Given the description of an element on the screen output the (x, y) to click on. 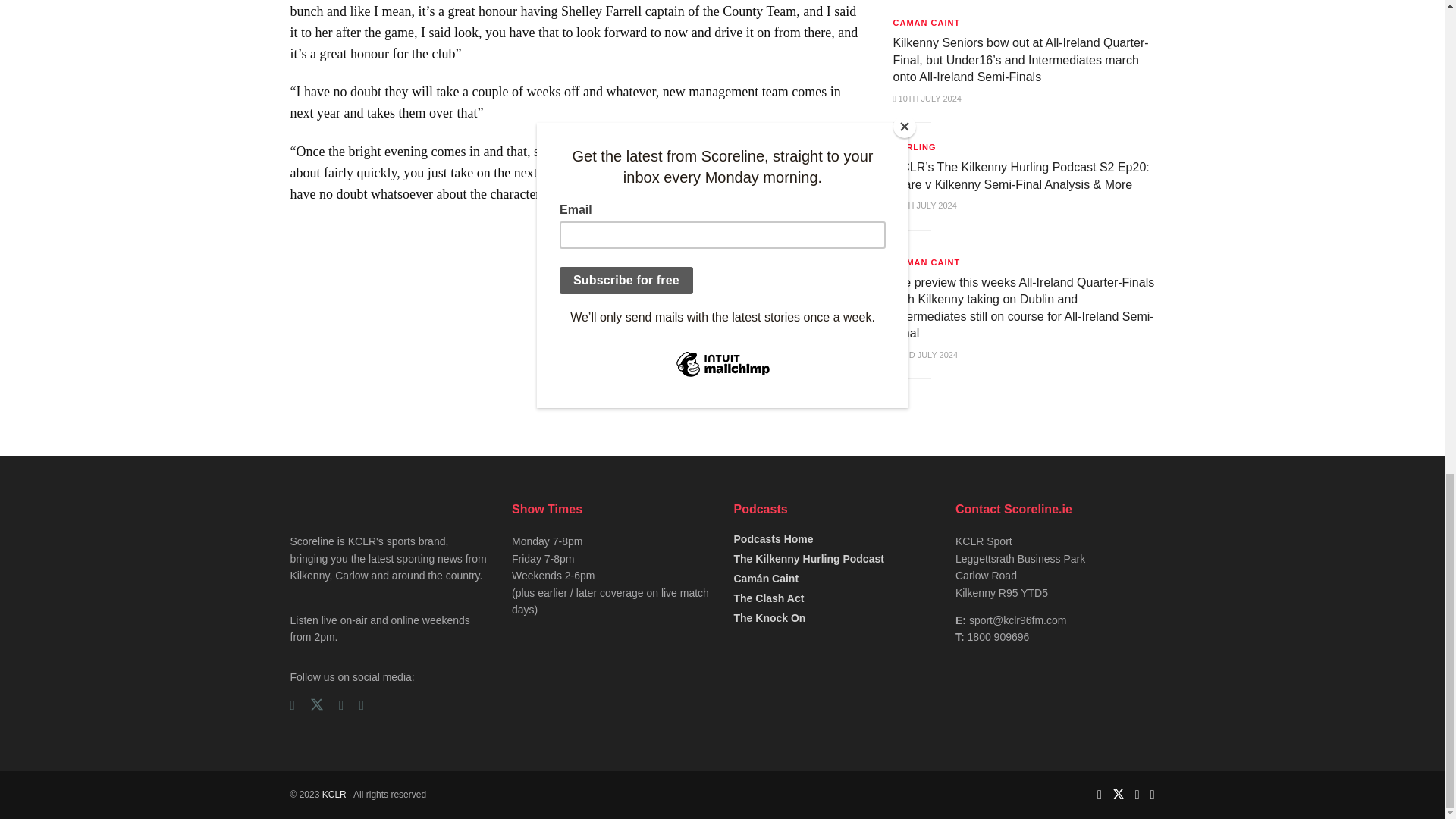
10TH JULY 2024 (926, 98)
CAMAN CAINT (926, 22)
